Given the description of an element on the screen output the (x, y) to click on. 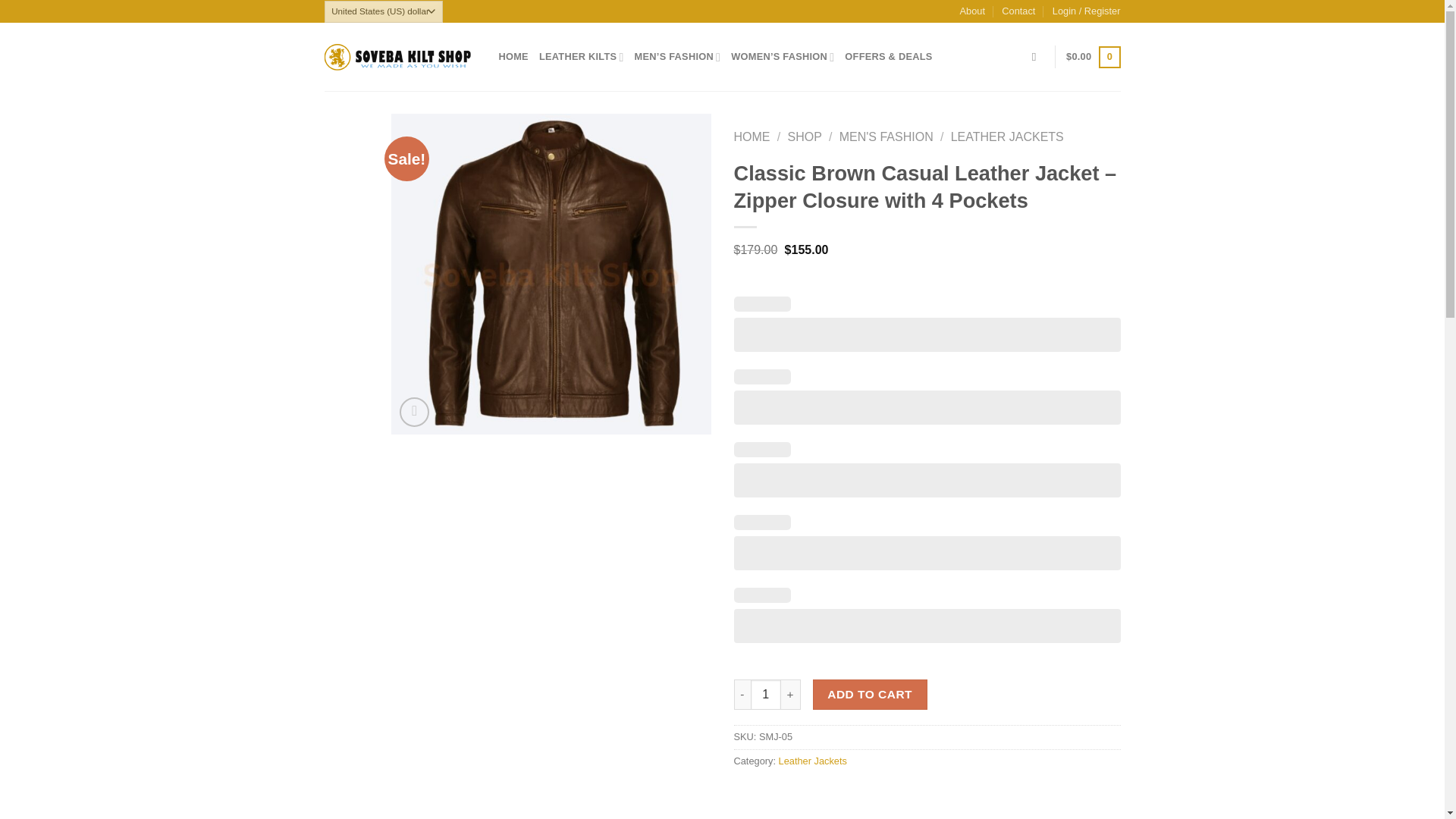
Zoom (413, 411)
Cart (1092, 57)
Soveba Kilt Shop - Leather Shop (400, 57)
About (972, 11)
Contact (1018, 11)
HOME (513, 56)
Login (1086, 11)
1 (765, 694)
LEATHER KILTS (581, 56)
